Given the description of an element on the screen output the (x, y) to click on. 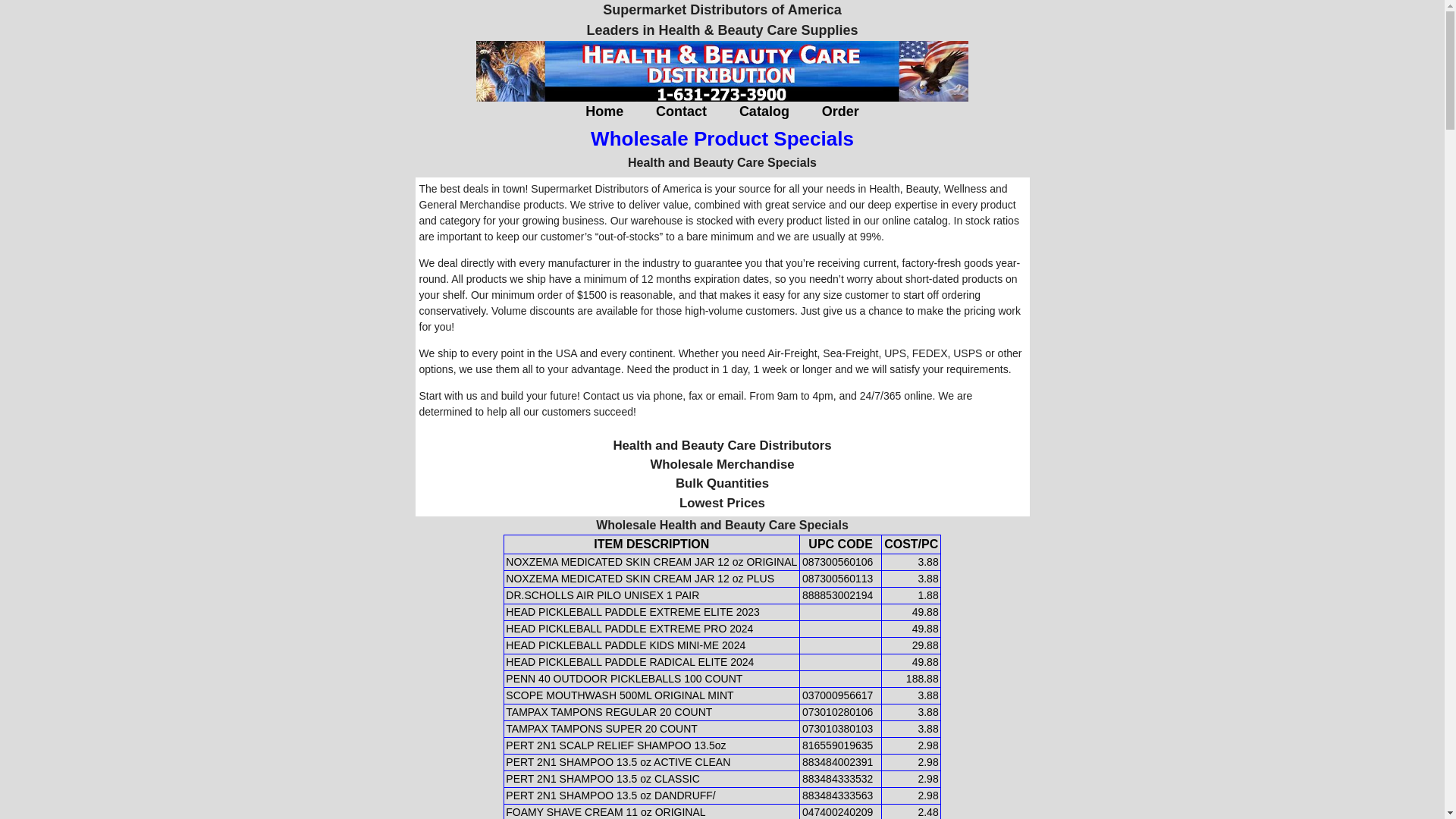
Wholesale Specials (722, 138)
Wholesale Products (764, 111)
Bulk Health and Beauty Care (840, 111)
Contact (681, 111)
Order (840, 111)
Home (604, 111)
Catalog (764, 111)
Health Beauty Products (604, 111)
Contact Supermarket Distributors of America (681, 111)
